Given the description of an element on the screen output the (x, y) to click on. 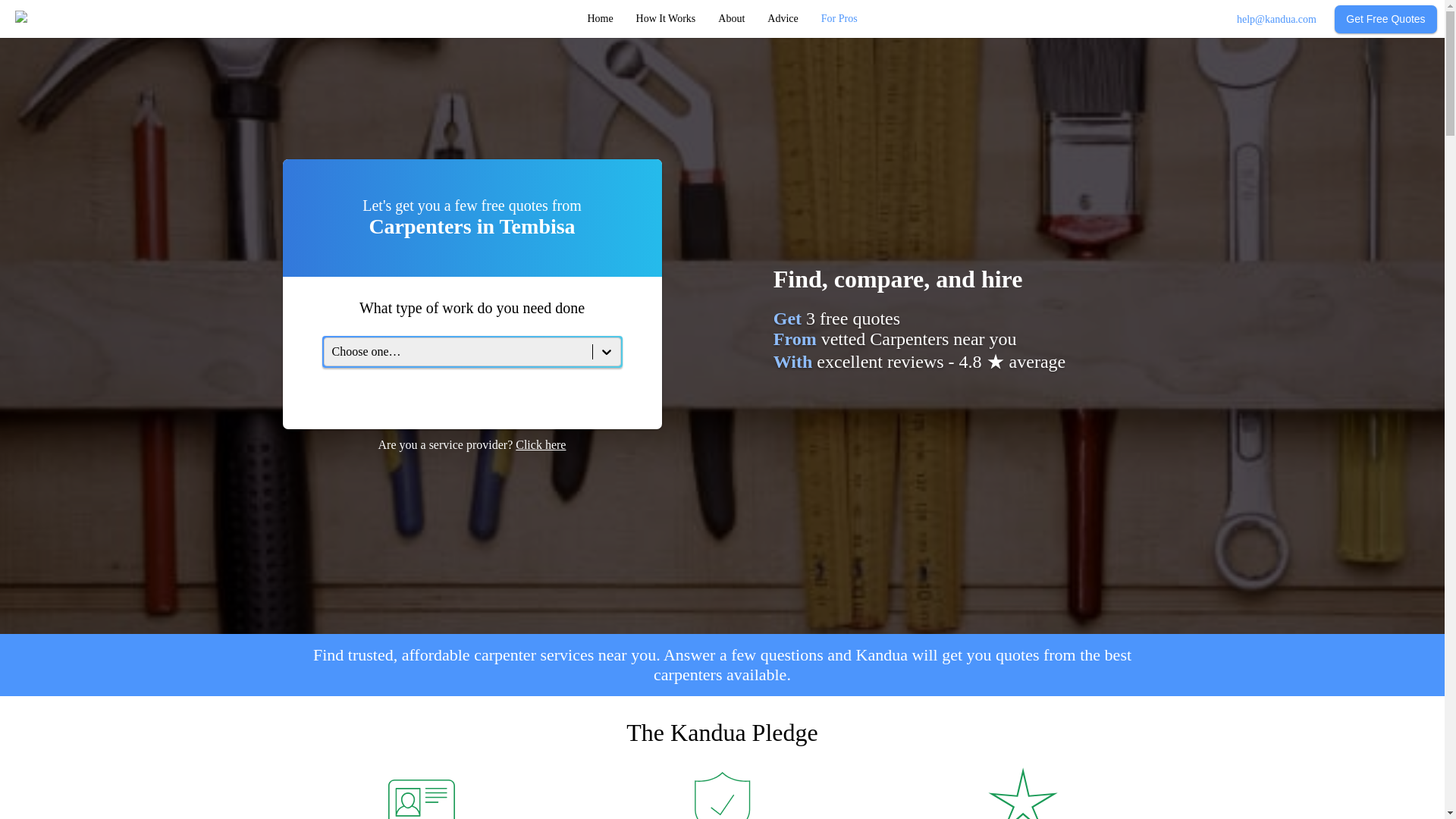
Advice (782, 19)
For Pros (838, 19)
Click here (540, 444)
Get Free Quotes (1386, 18)
Home (599, 19)
About (731, 19)
